Given the description of an element on the screen output the (x, y) to click on. 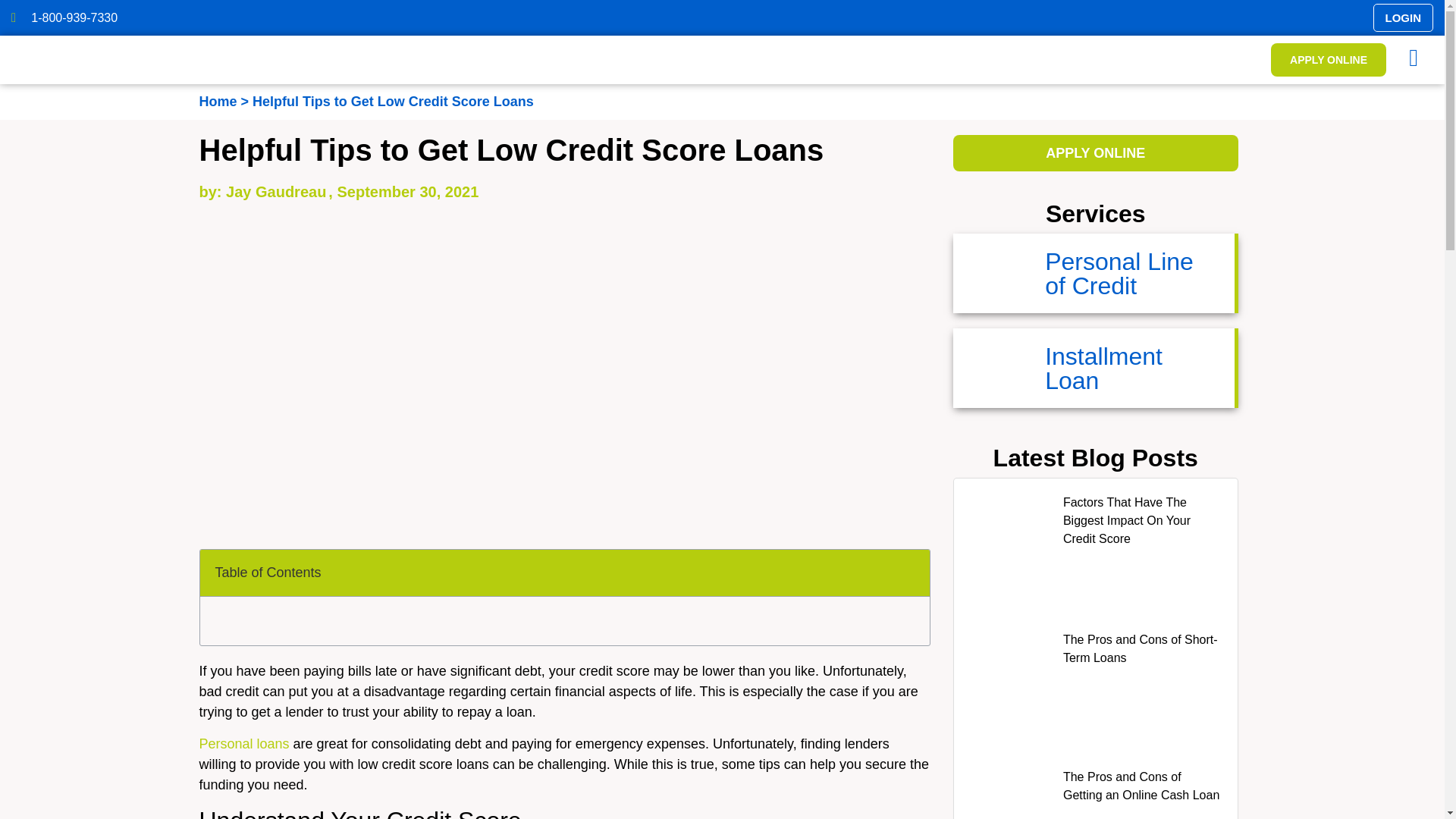
Home (1103, 368)
by: Jay Gaudreau (216, 101)
The Pros and Cons of Short-Term Loans (262, 191)
1-800-939-7330 (1139, 648)
Personal loans (366, 18)
APPLY ONLINE (243, 743)
APPLY ONLINE (1096, 153)
The Pros and Cons of Getting an Online Cash Loan (1328, 59)
